Given the description of an element on the screen output the (x, y) to click on. 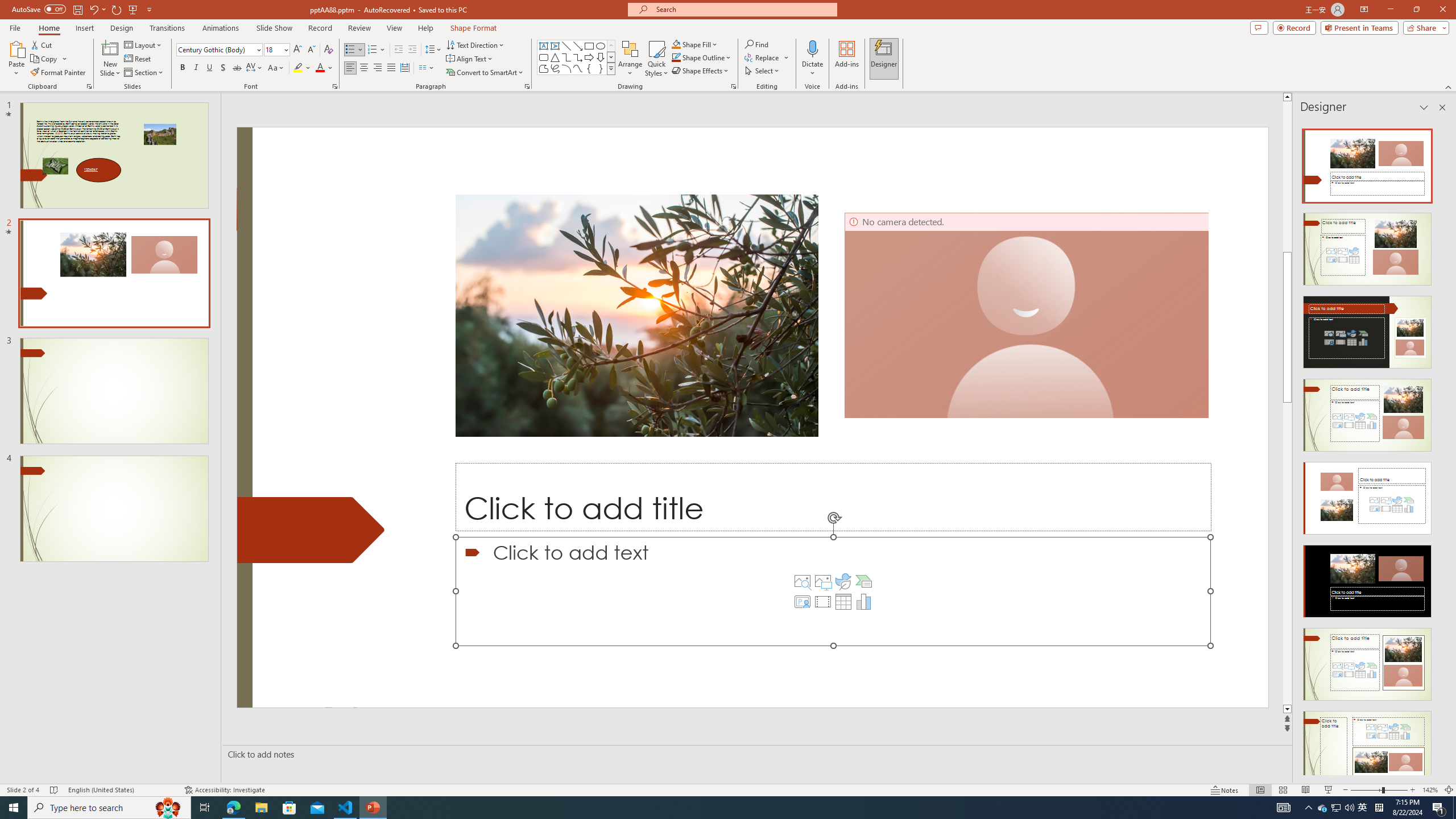
Connector: Elbow (566, 57)
Rectangle: Rounded Corners (543, 57)
Cut (42, 44)
Spell Check No Errors (54, 790)
Copy (49, 58)
Find... (756, 44)
Bullets (349, 49)
Open (285, 49)
Insert an Icon (843, 581)
Decrease Indent (398, 49)
Stock Images (801, 581)
Insert Chart (863, 601)
